Given the description of an element on the screen output the (x, y) to click on. 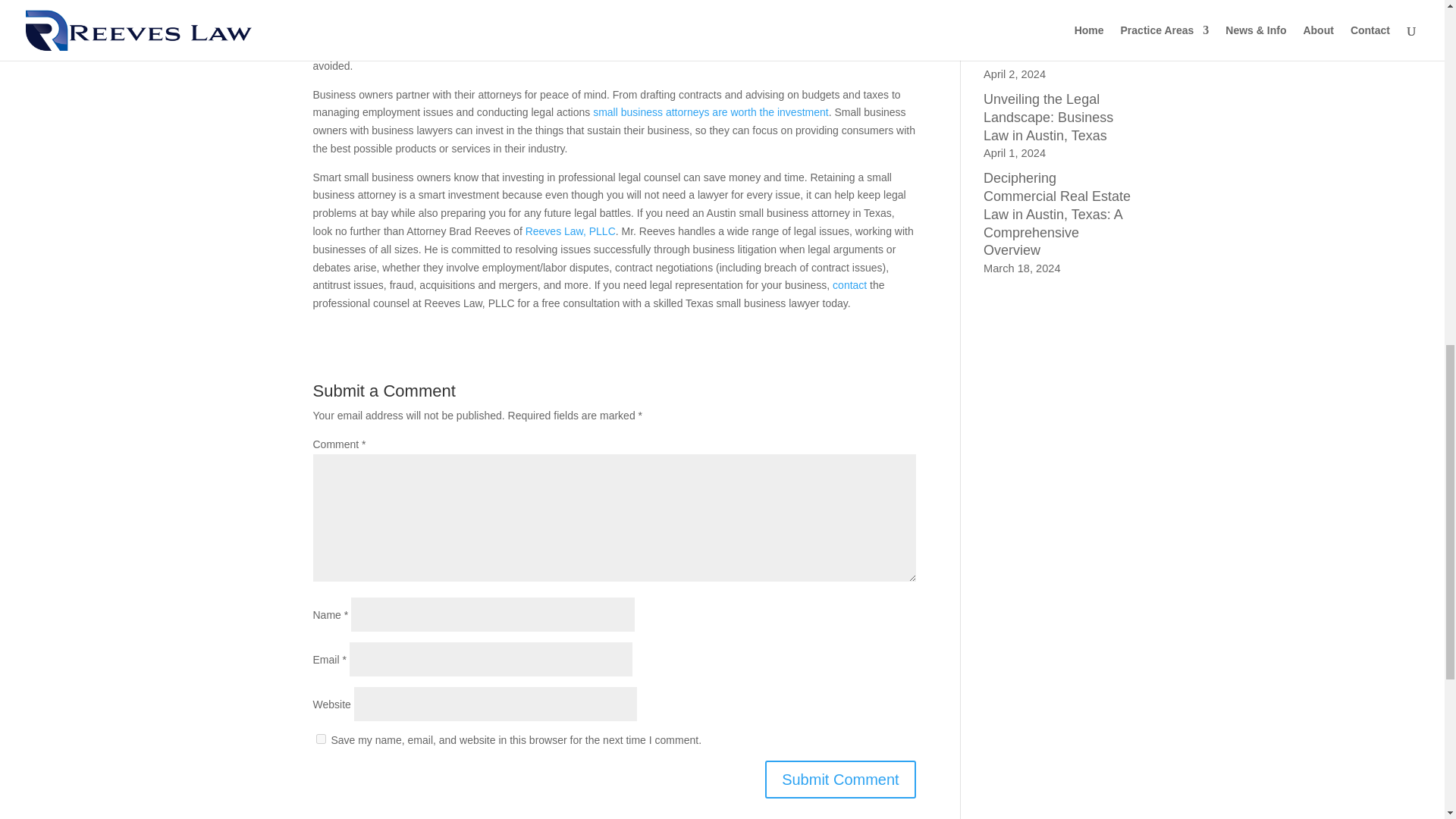
Unveiling the Legal Landscape: Business Law in Austin, Texas (1048, 117)
Reeves Law, PLLC (570, 231)
contact (849, 285)
Submit Comment (840, 779)
yes (319, 738)
small business attorneys are worth the investment (710, 111)
Submit Comment (840, 779)
